Given the description of an element on the screen output the (x, y) to click on. 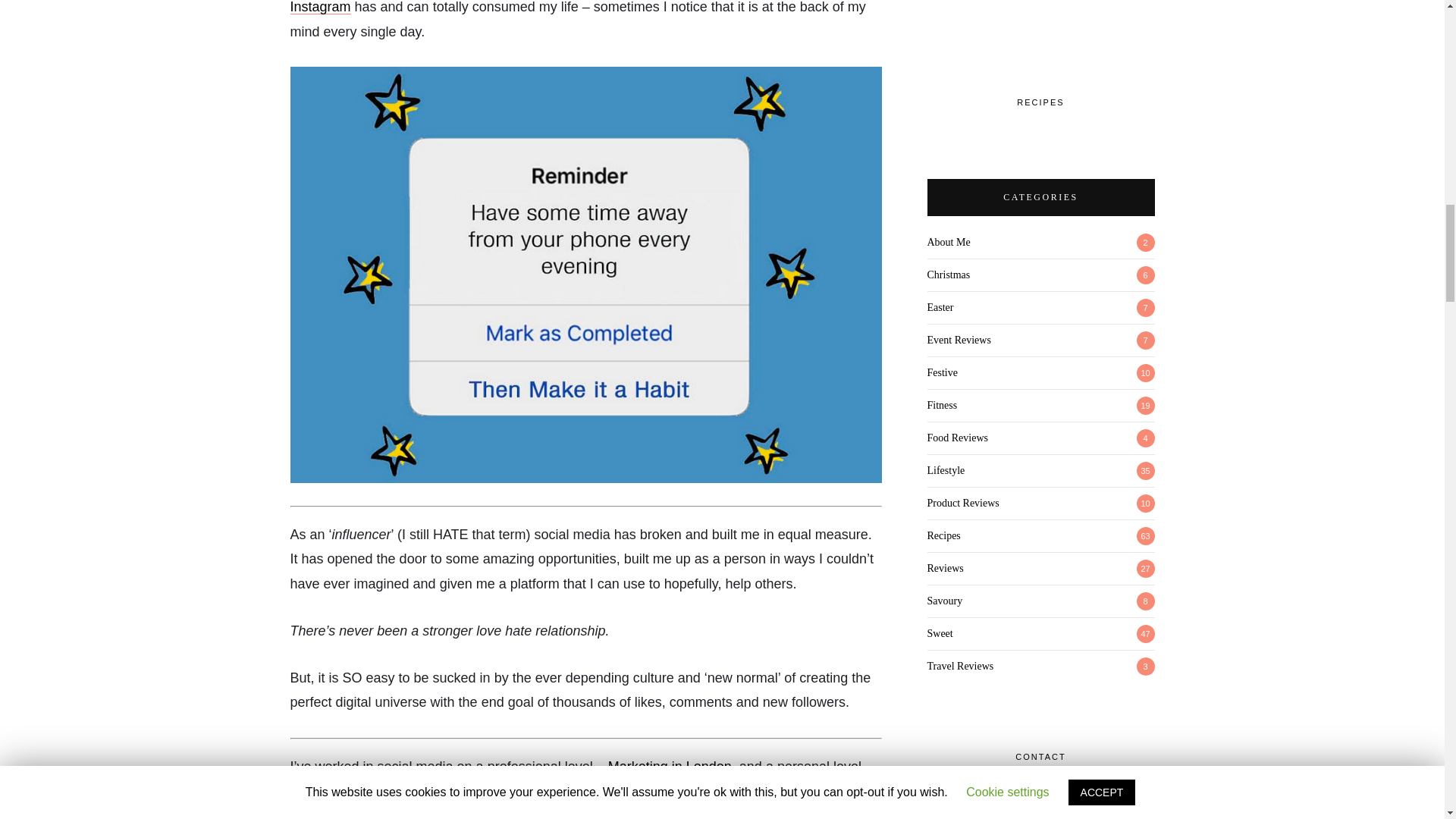
ADD CONTENT HERE (942, 535)
Add content (944, 470)
Add content (944, 568)
Add content (941, 405)
